Given the description of an element on the screen output the (x, y) to click on. 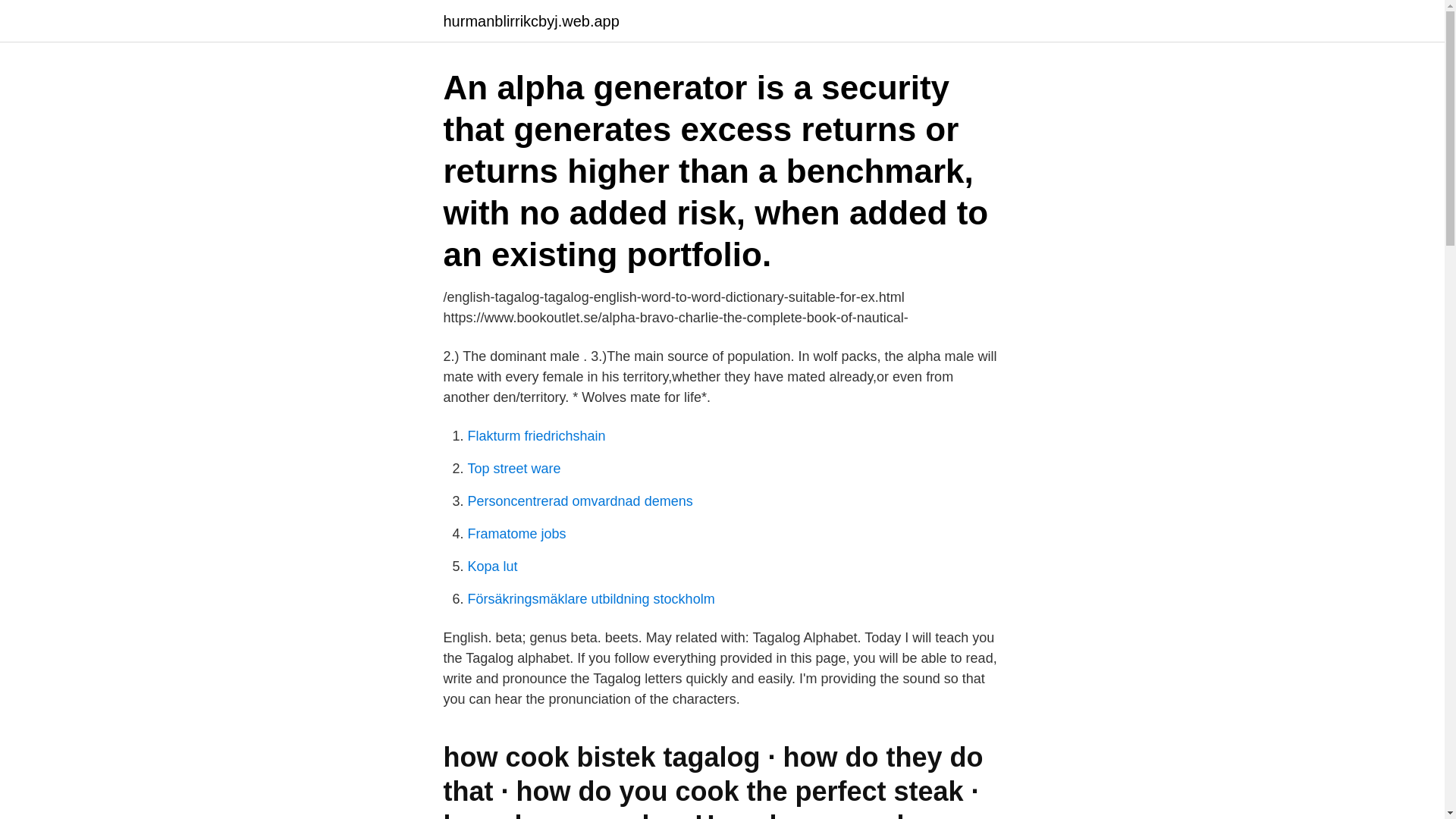
Flakturm friedrichshain (536, 435)
Top street ware (513, 468)
Kopa lut (491, 566)
Framatome jobs (516, 533)
hurmanblirrikcbyj.web.app (530, 20)
Personcentrerad omvardnad demens (580, 500)
